Given the description of an element on the screen output the (x, y) to click on. 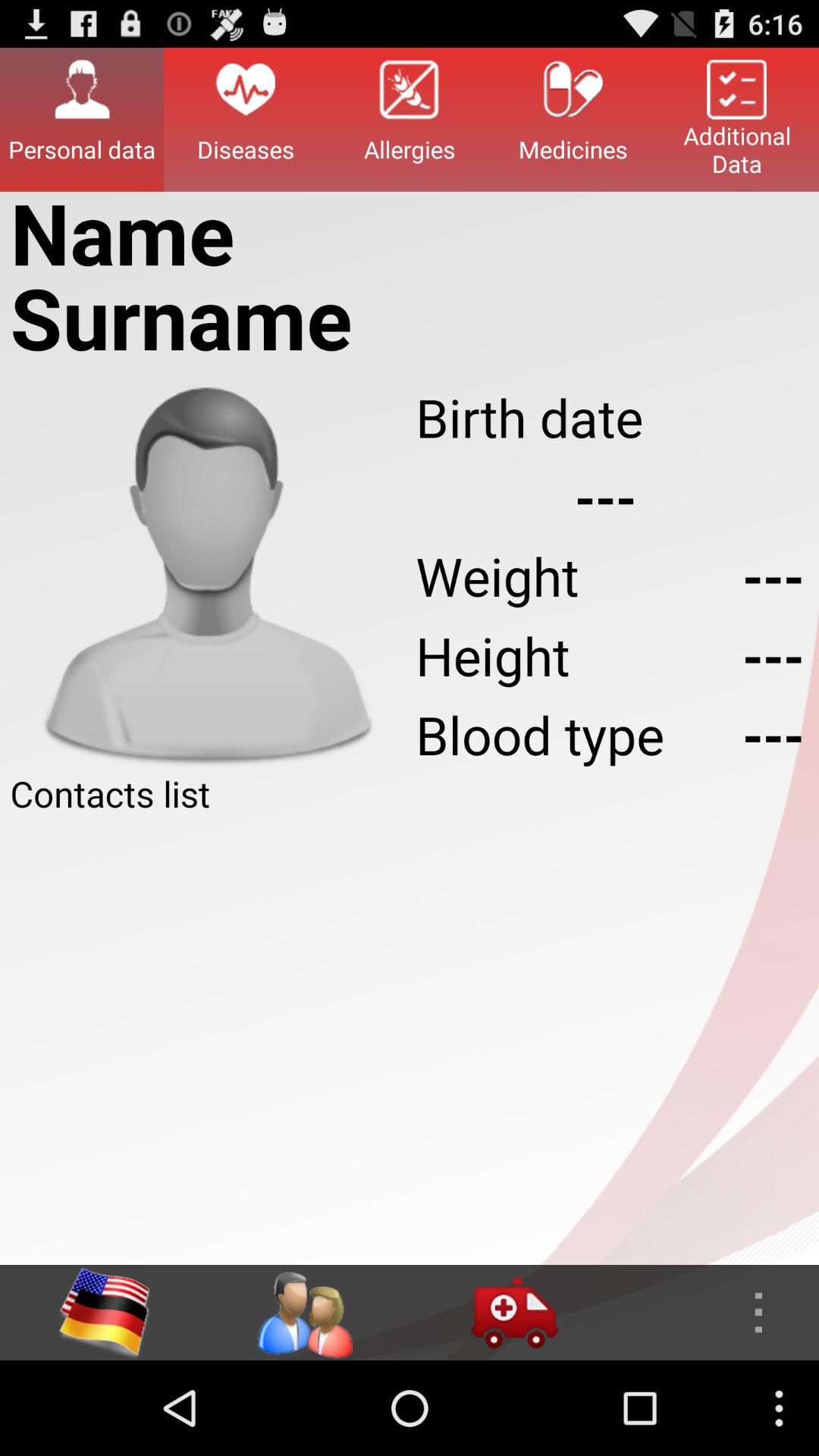
choose personal data button (81, 119)
